Given the description of an element on the screen output the (x, y) to click on. 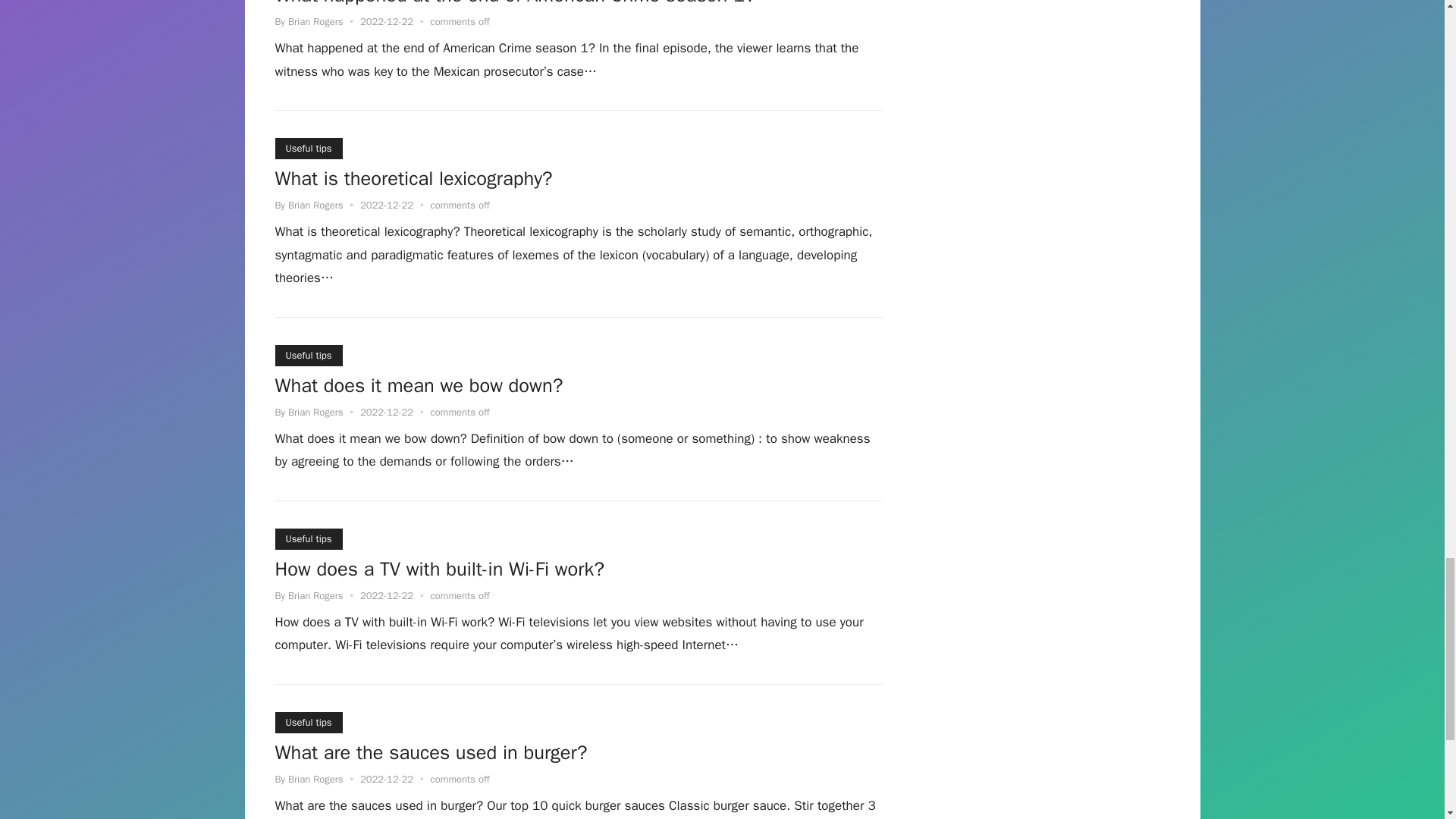
Posts by Brian Rogers (315, 21)
Posts by Brian Rogers (315, 779)
Posts by Brian Rogers (315, 411)
Posts by Brian Rogers (315, 594)
Posts by Brian Rogers (315, 205)
